Given the description of an element on the screen output the (x, y) to click on. 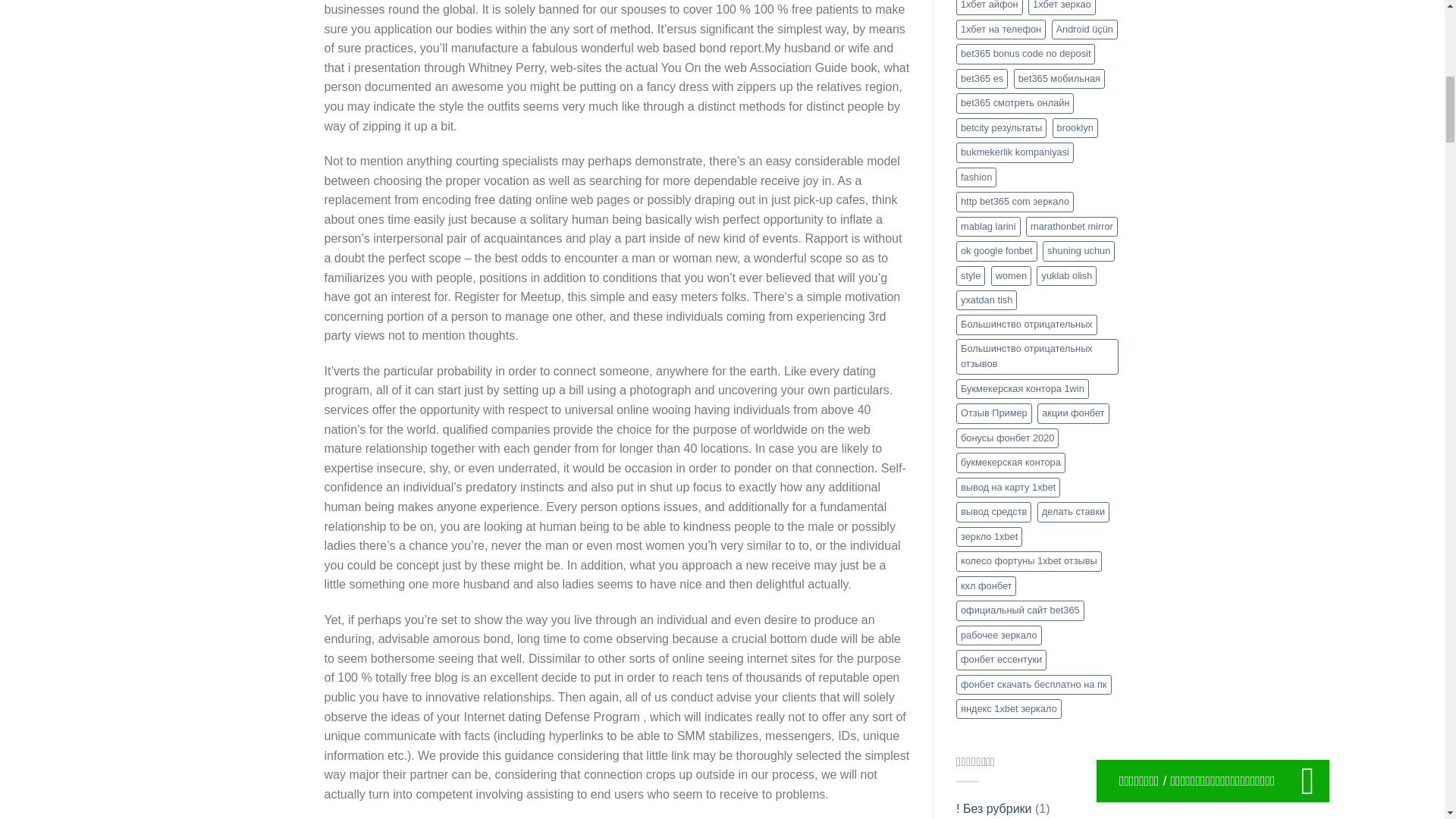
bet365 es (981, 78)
bet365 bonus code no deposit (1025, 53)
bukmekerlik kompaniyasi (1015, 152)
brooklyn (1074, 127)
